Given the description of an element on the screen output the (x, y) to click on. 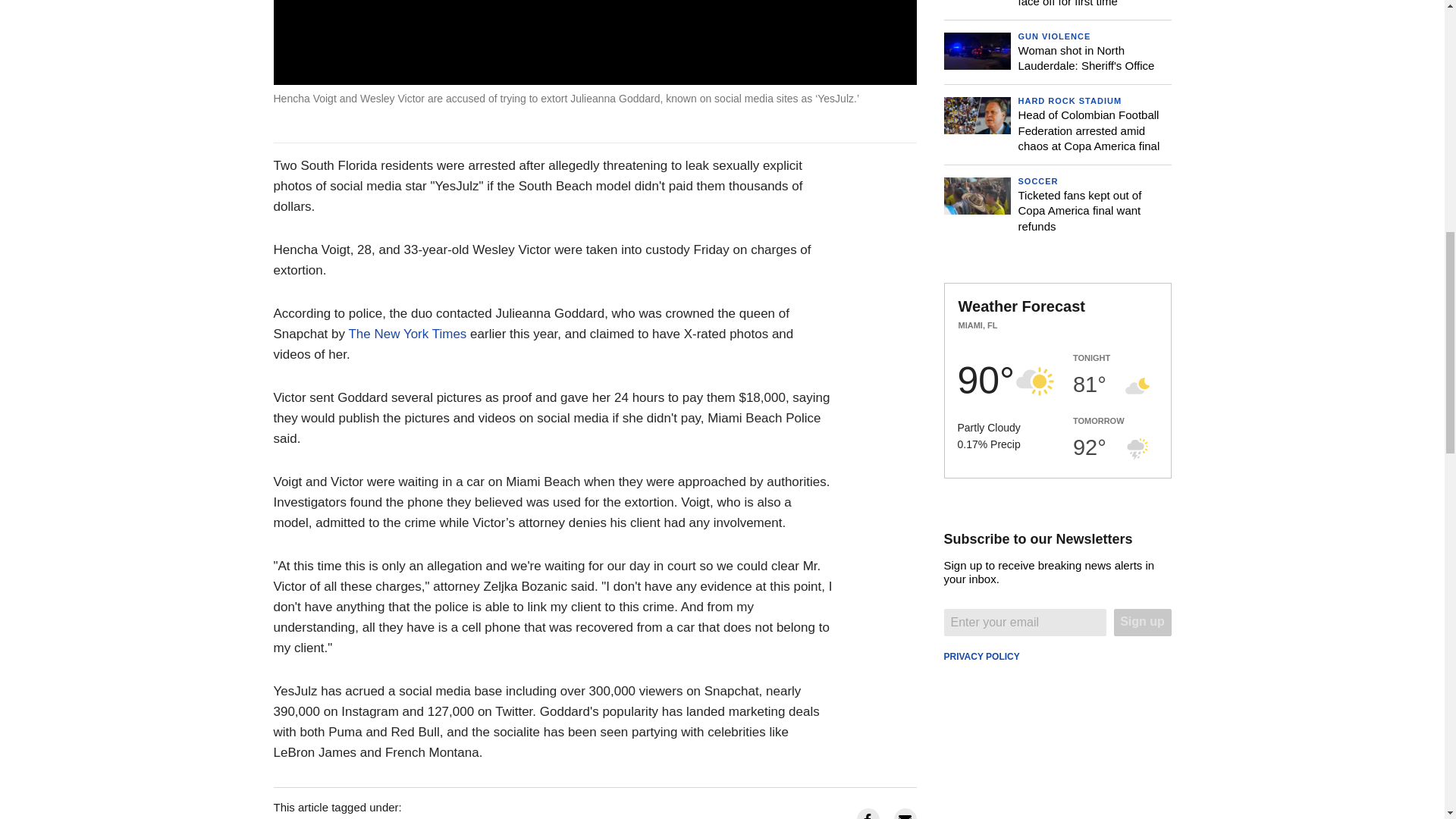
The New York Times (406, 333)
